Given the description of an element on the screen output the (x, y) to click on. 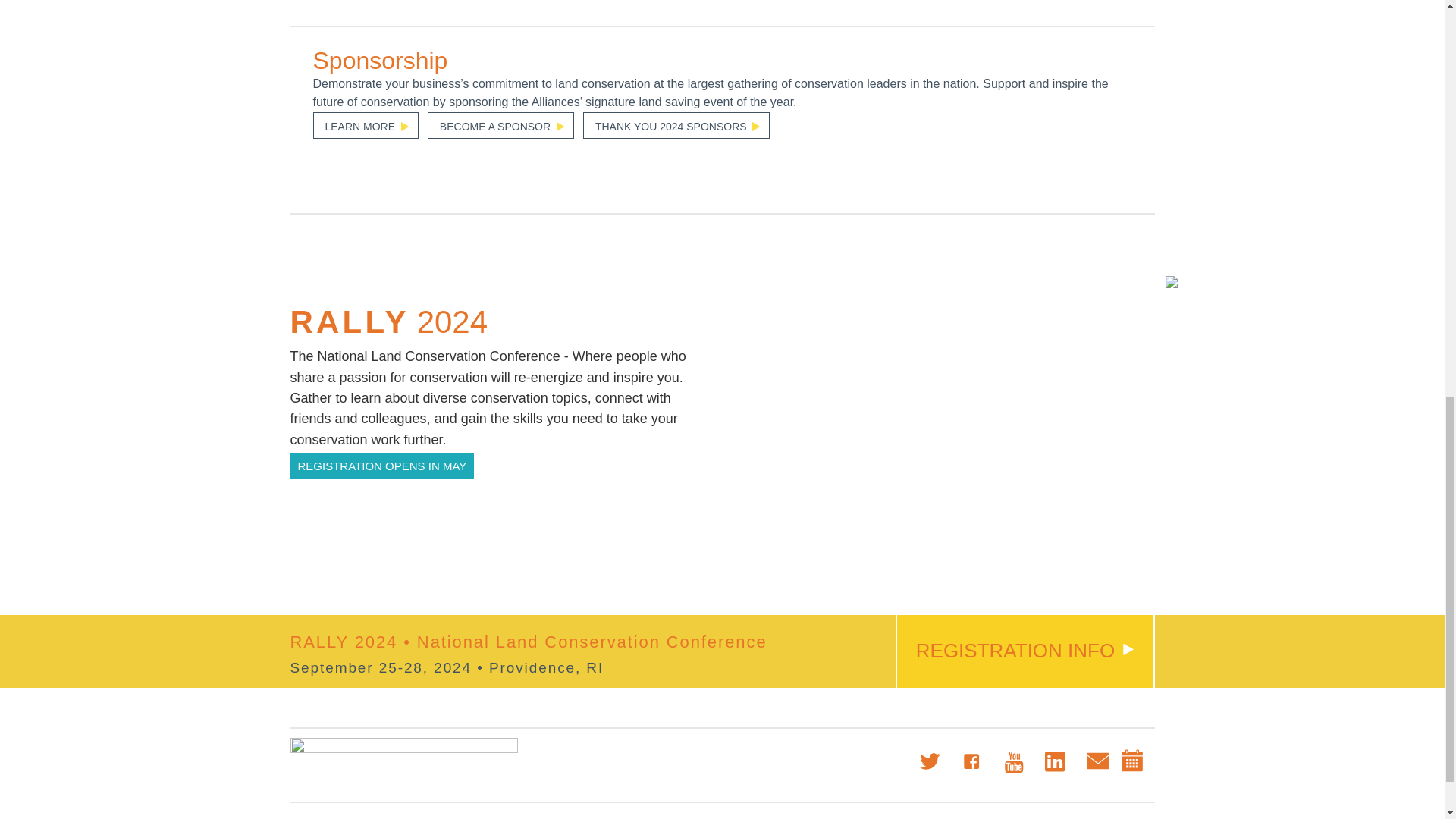
THANK YOU 2024 SPONSORS   (676, 125)
LEARN MORE  (365, 125)
BECOME A SPONSOR   (500, 125)
